Given the description of an element on the screen output the (x, y) to click on. 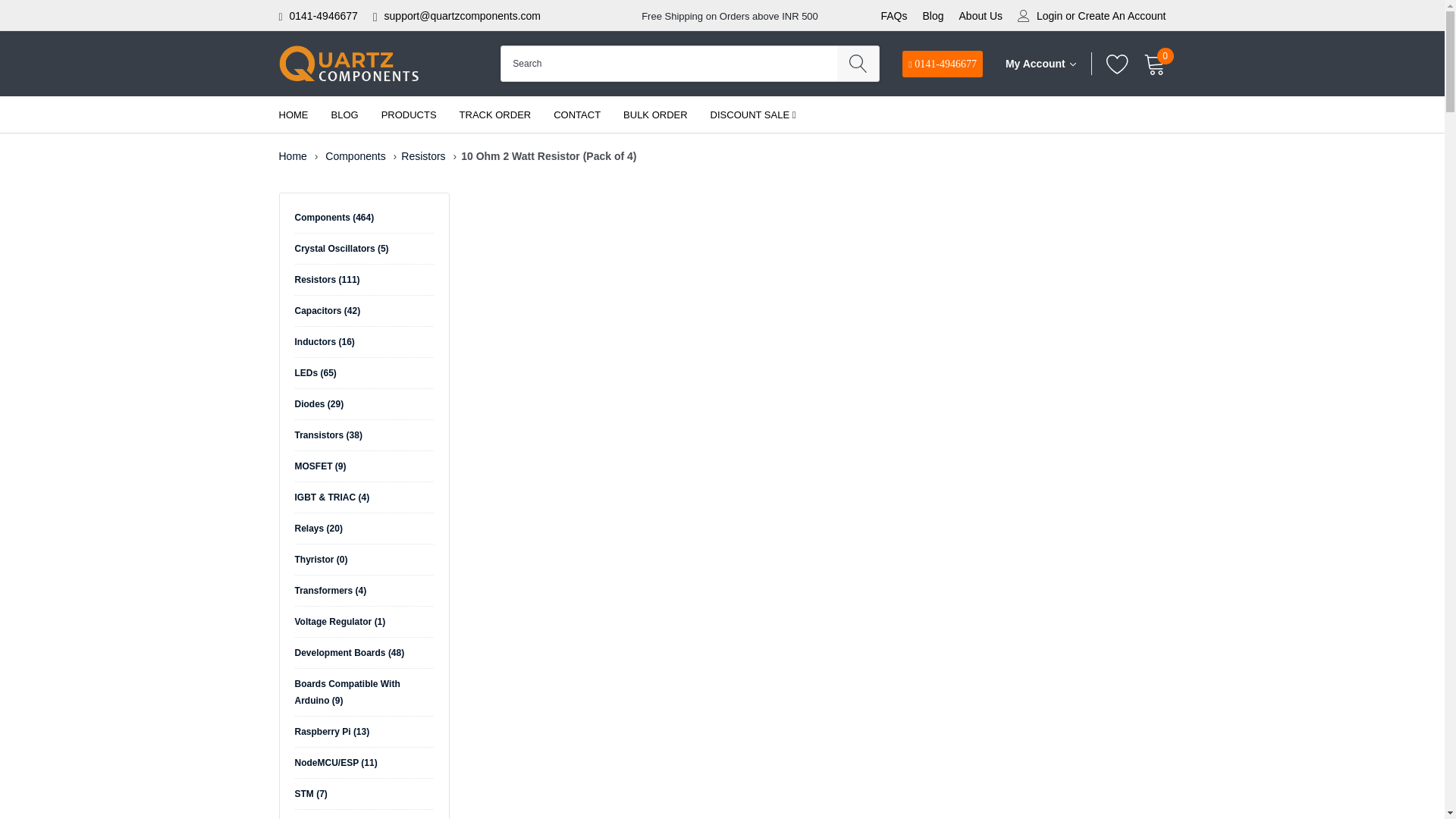
FAQs (893, 15)
About Us (981, 15)
Blog (932, 15)
Login (1049, 15)
Create An Account (1122, 15)
Resistors (423, 155)
0141-4946677 (323, 15)
Components (354, 155)
Home (293, 155)
search (858, 63)
